Given the description of an element on the screen output the (x, y) to click on. 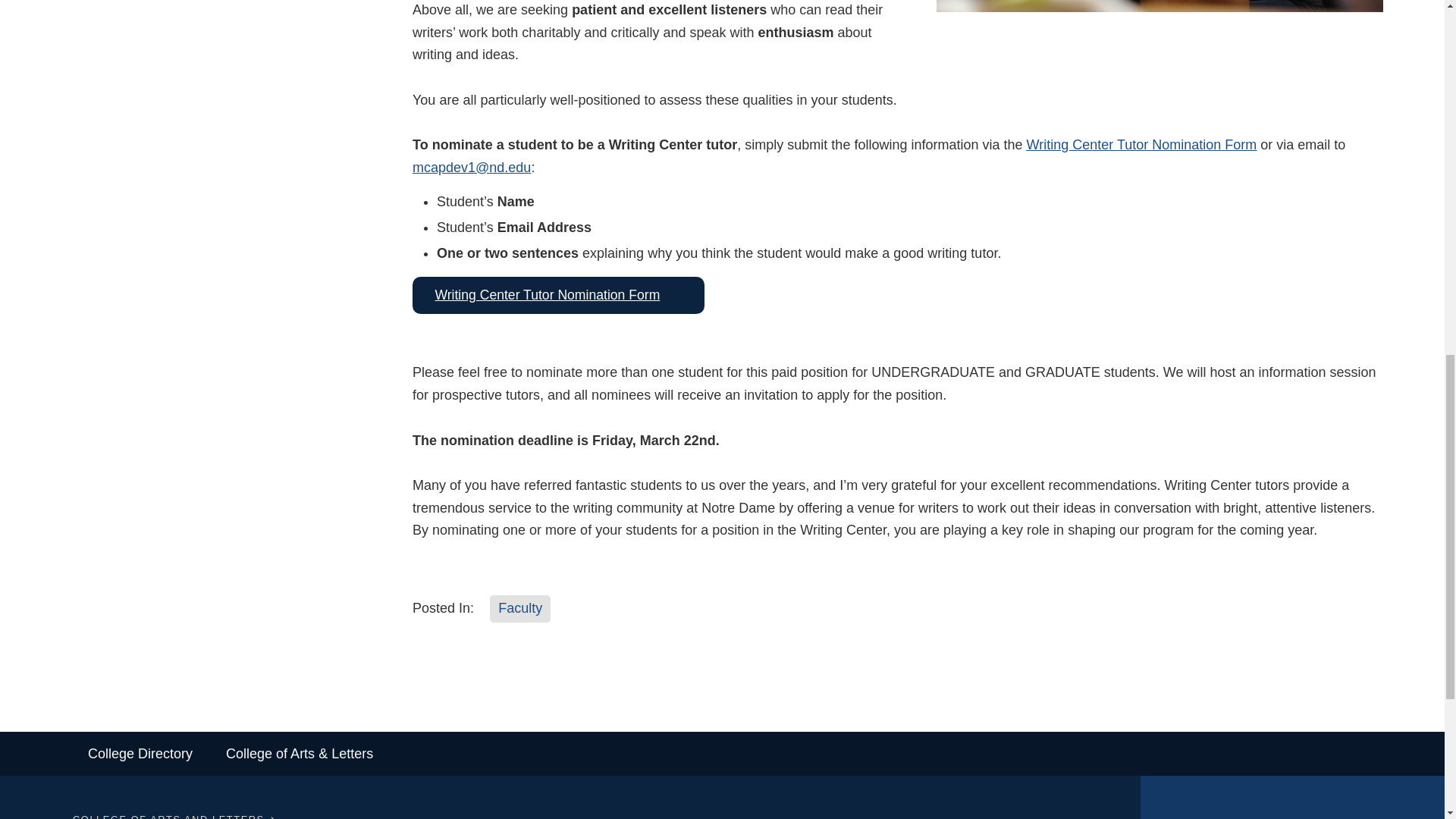
Faculty (519, 608)
Writing Center Tutor Nomination Form (558, 294)
Writing Center Tutor Nomination Form (1141, 144)
